Given the description of an element on the screen output the (x, y) to click on. 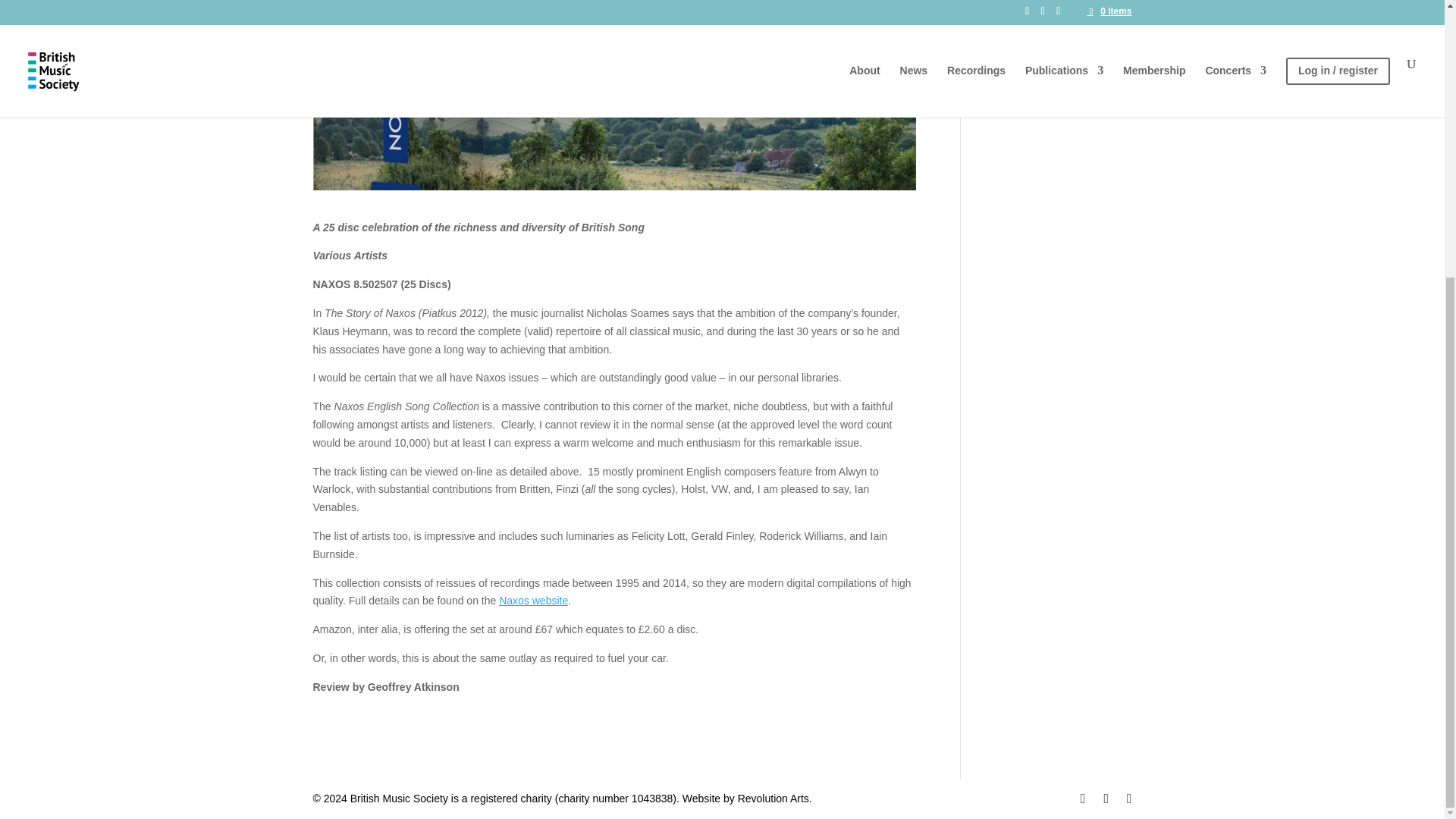
Naxos website (533, 600)
